Given the description of an element on the screen output the (x, y) to click on. 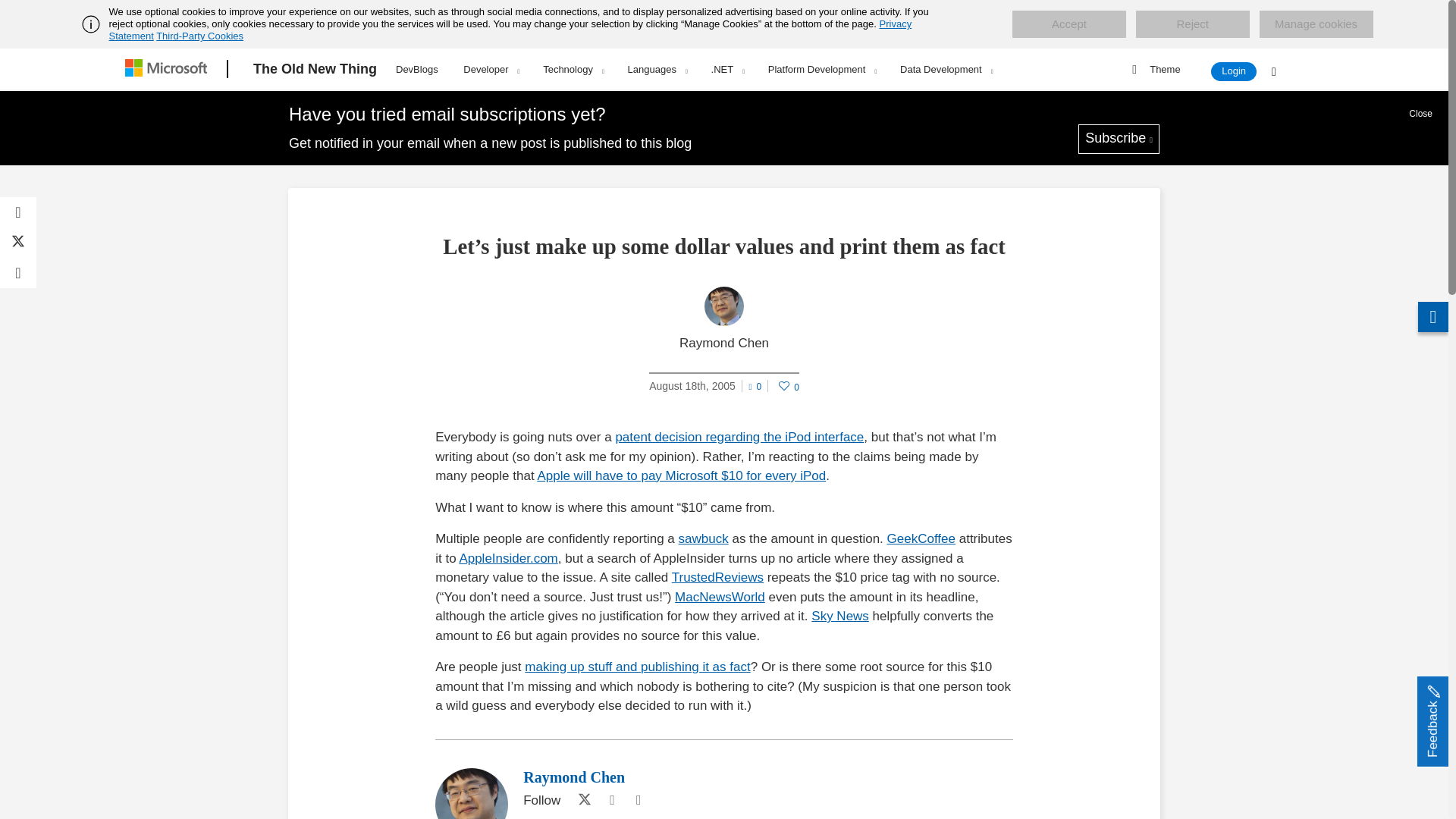
Manage cookies (1316, 23)
RSS Feed (637, 800)
DevBlogs (416, 67)
Privacy Statement (510, 29)
Share on Facebook (18, 212)
Share on LinkedIn (18, 272)
The Old New Thing (315, 69)
Third-Party Cookies (199, 35)
Technology (572, 69)
Accept (1068, 23)
Twitter (581, 800)
Developer (490, 69)
Share on Twitter (18, 242)
Github (611, 800)
Languages (657, 69)
